Given the description of an element on the screen output the (x, y) to click on. 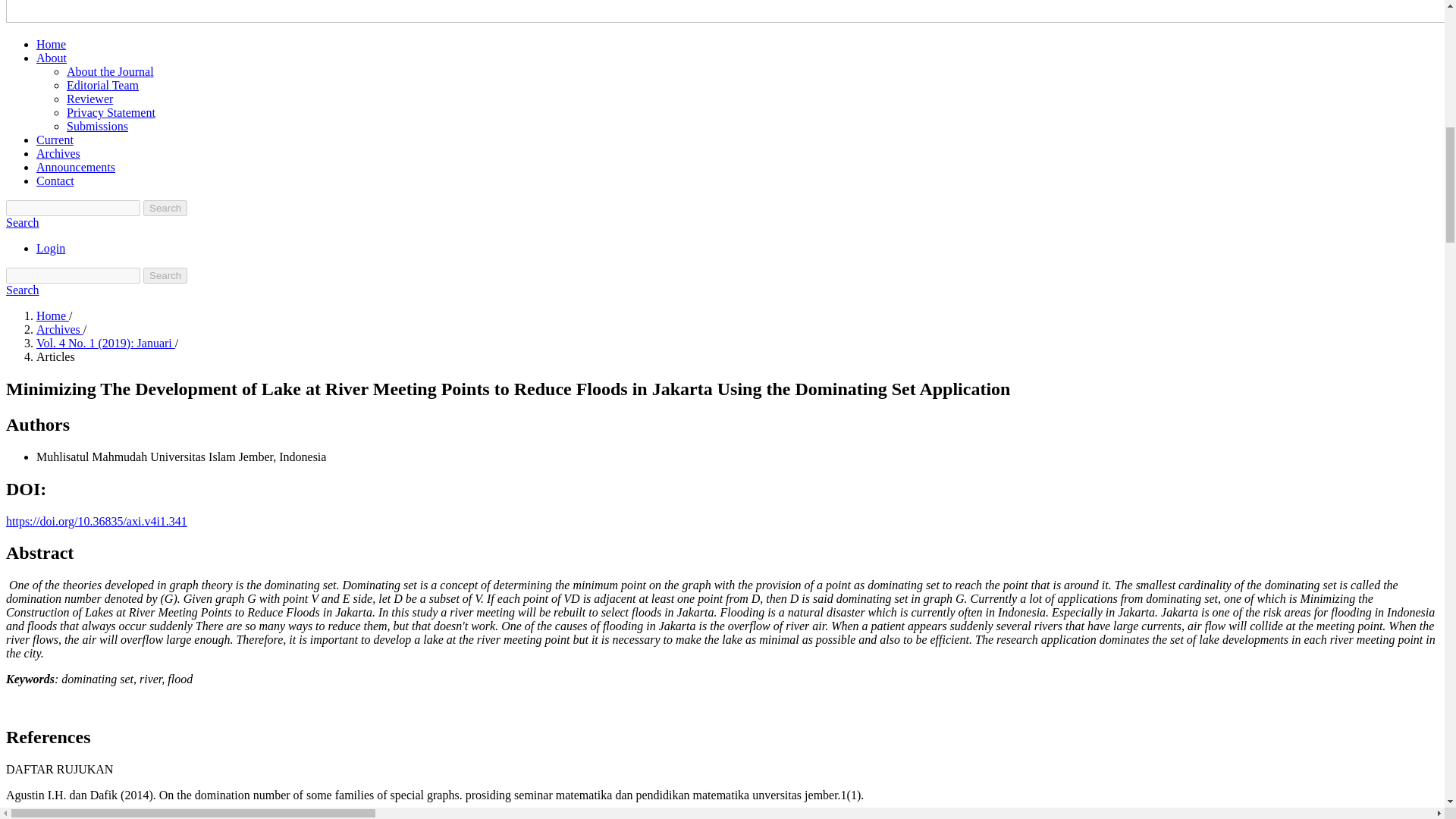
Editorial Team (102, 84)
Submissions (97, 125)
Reviewer (89, 98)
Announcements (75, 166)
Current (55, 139)
Login (50, 247)
Privacy Statement (110, 112)
Home (52, 315)
About (51, 57)
Search (22, 289)
